Given the description of an element on the screen output the (x, y) to click on. 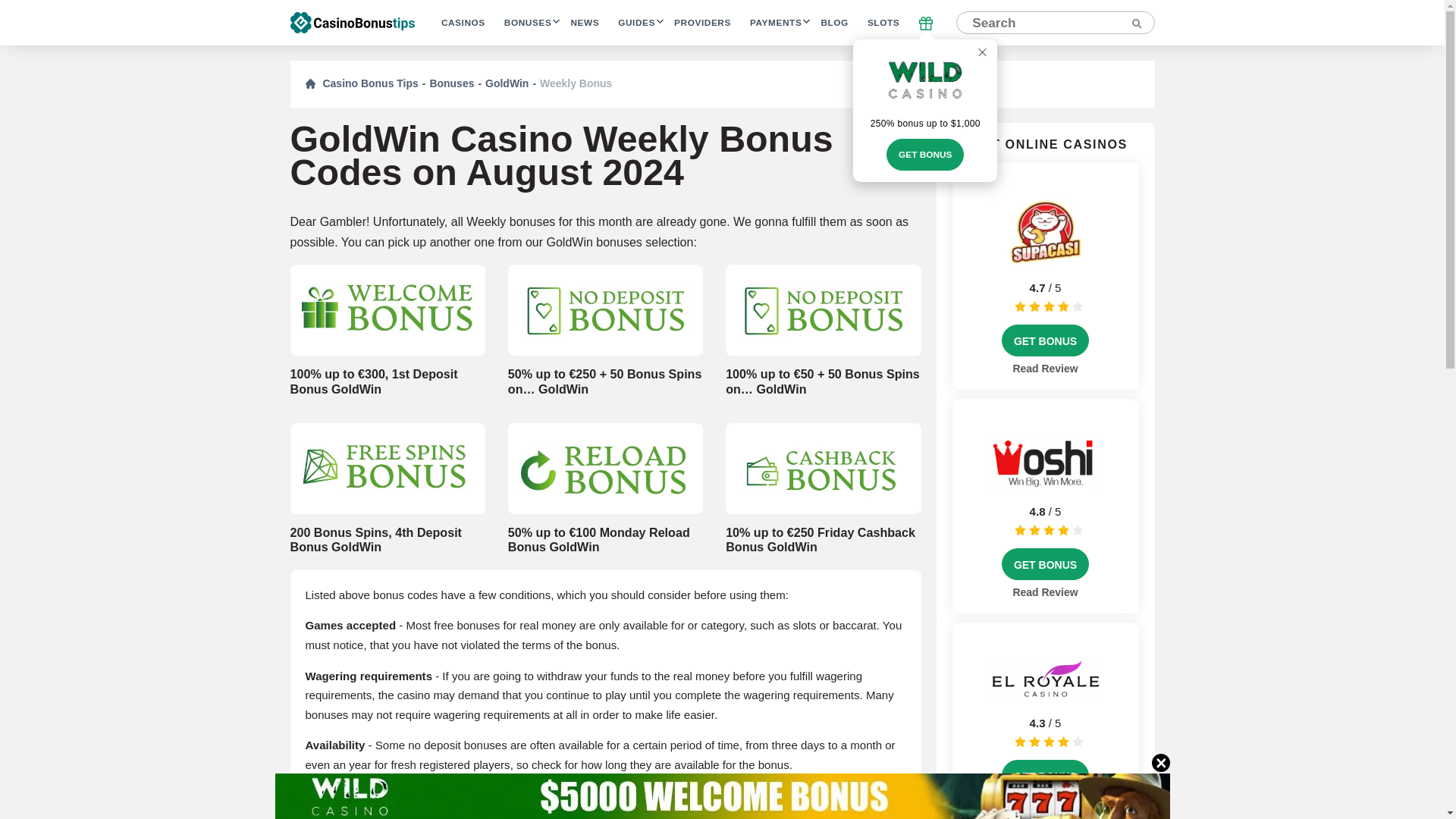
GUIDES (636, 22)
BLOG (834, 22)
PAYMENTS (775, 22)
BONUSES (527, 22)
NEWS (584, 22)
CASINOS (462, 22)
PROVIDERS (702, 22)
SLOTS (883, 22)
